Given the description of an element on the screen output the (x, y) to click on. 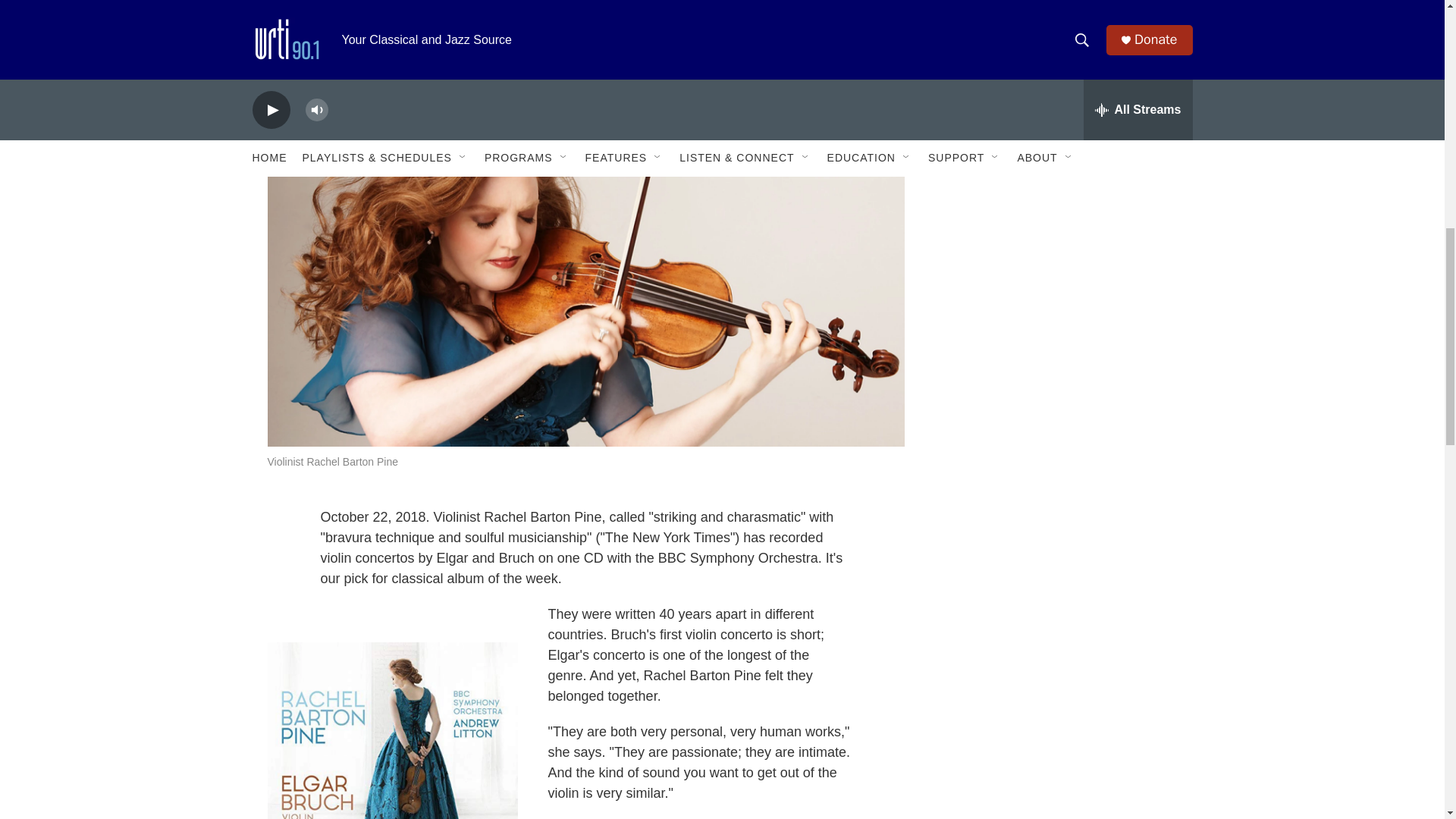
3rd party ad content (1062, 175)
3rd party ad content (1062, 380)
3rd party ad content (1062, 585)
